Given the description of an element on the screen output the (x, y) to click on. 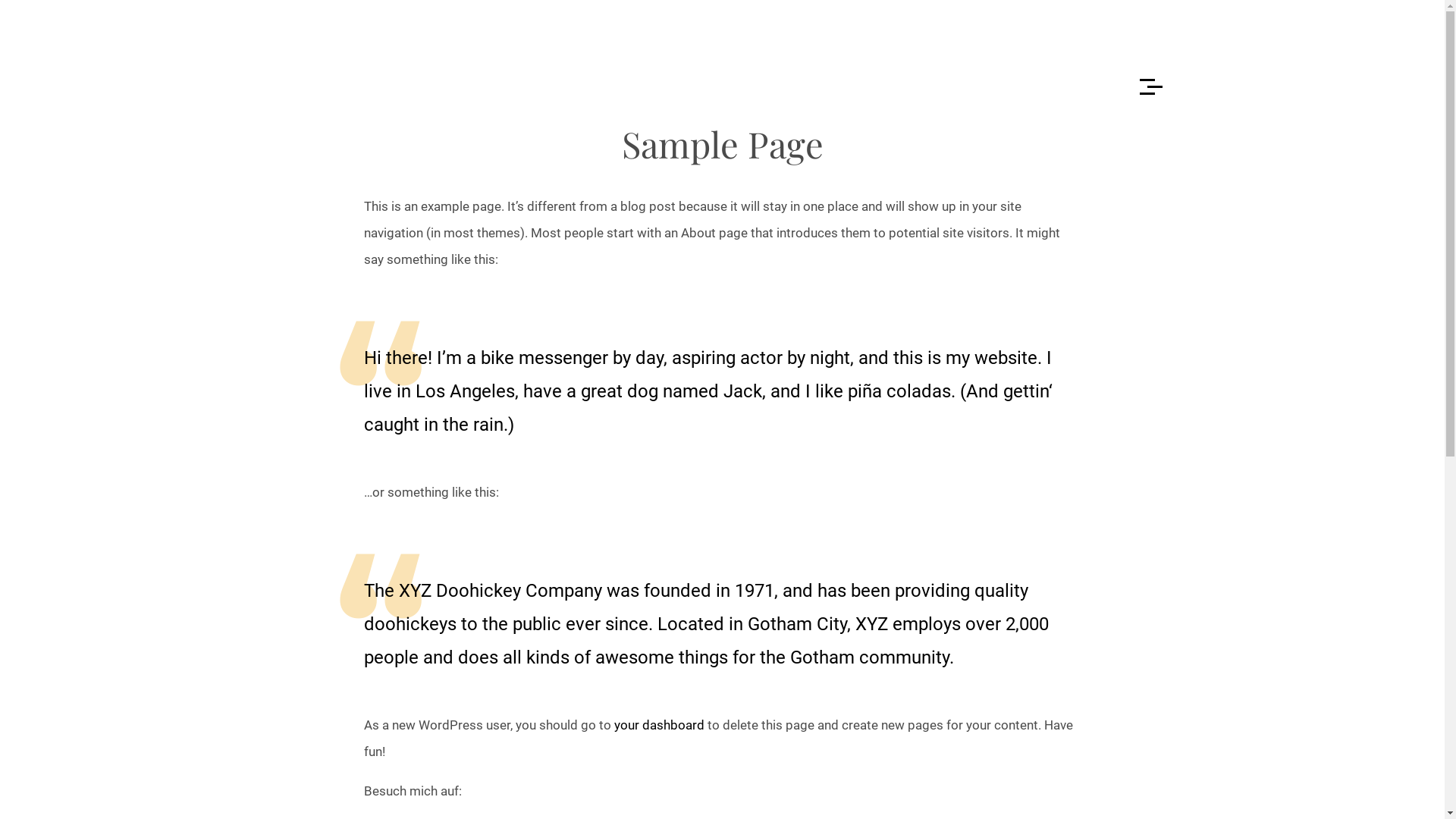
your dashboard Element type: text (659, 724)
